Given the description of an element on the screen output the (x, y) to click on. 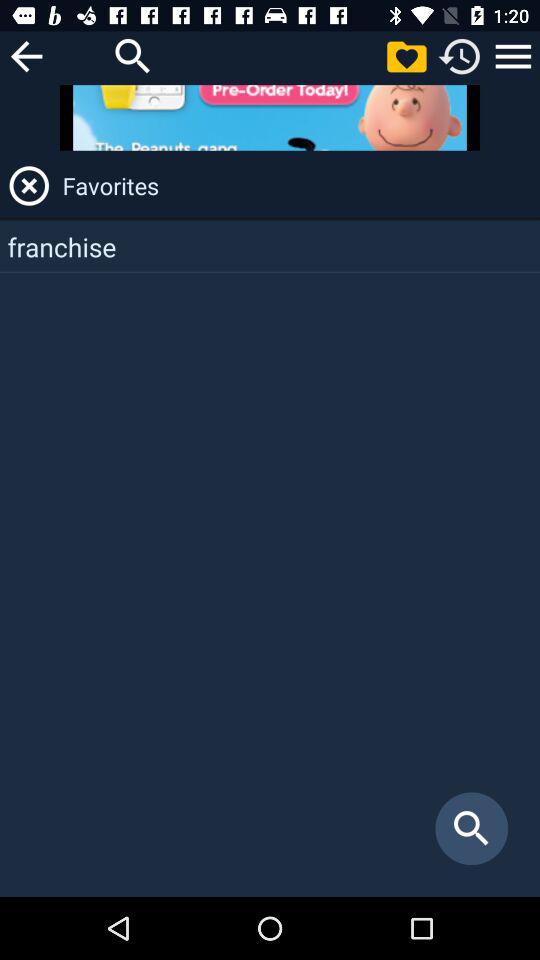
swipe to favorites icon (298, 185)
